Given the description of an element on the screen output the (x, y) to click on. 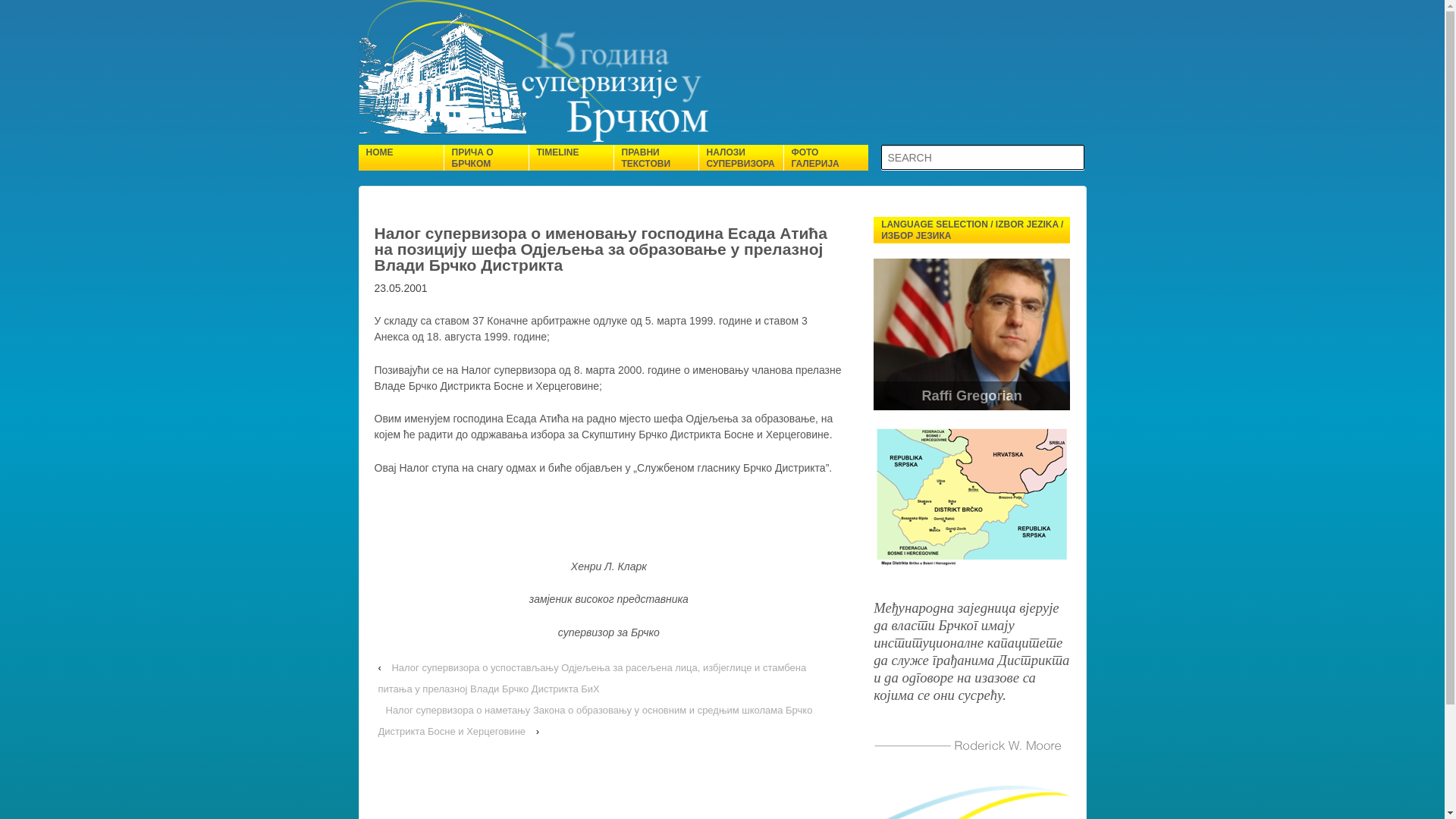
Search Element type: text (26, 11)
HOME Element type: text (399, 157)
Raffi Gregorian Element type: text (971, 395)
TIMELINE Element type: text (569, 157)
23.05.2001 Element type: text (400, 288)
